Given the description of an element on the screen output the (x, y) to click on. 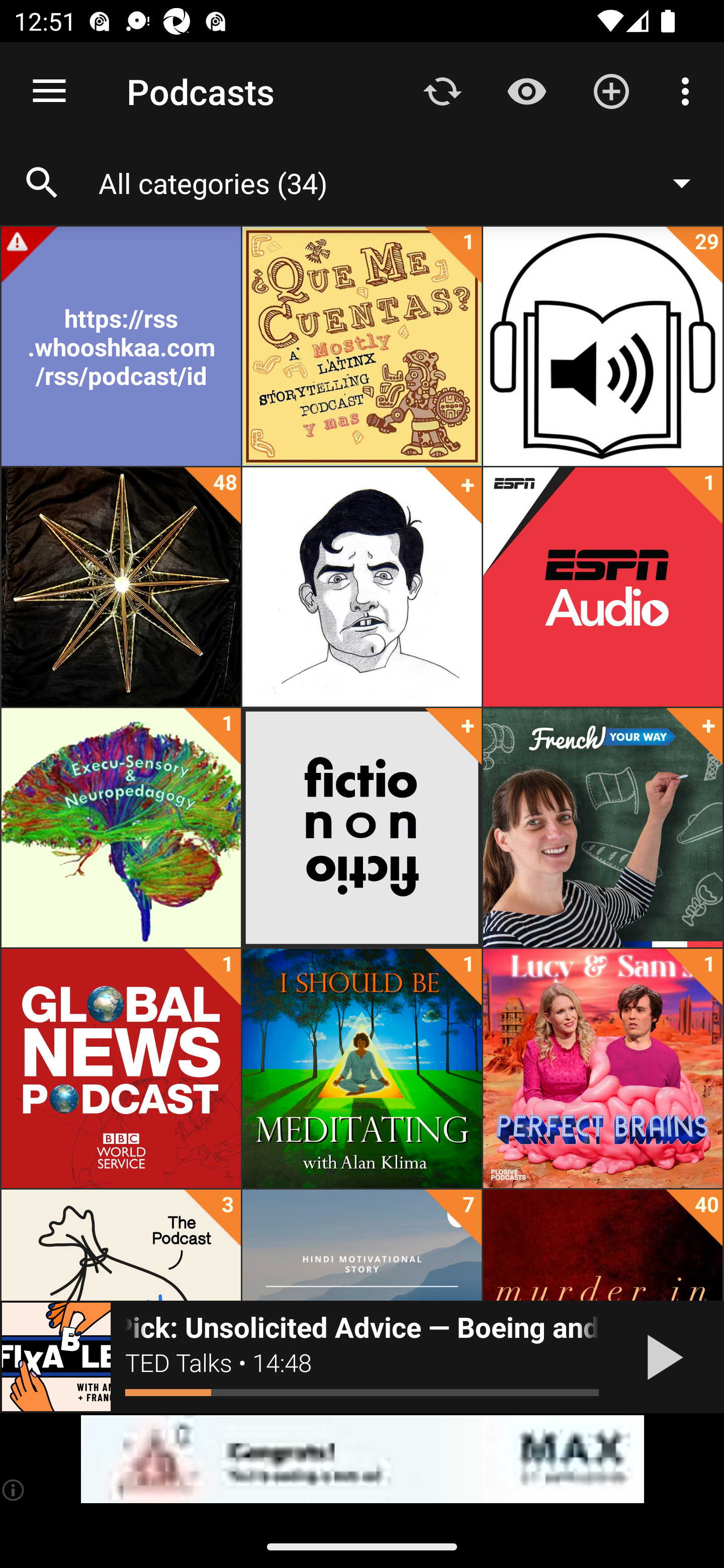
Open navigation sidebar (49, 91)
Update (442, 90)
Show / Hide played content (526, 90)
Add new Podcast (611, 90)
More options (688, 90)
Search (42, 183)
All categories (34) (404, 182)
https://rss.whooshkaa.com/rss/podcast/id/5884 (121, 346)
¿Qué Me Cuentas?: Latinx Storytelling 1 (361, 346)
Audiobooks 29 (602, 346)
Audiobooks 48 (121, 587)
Cooking Issues with Dave Arnold + (361, 587)
ESPN Audio 1 (602, 587)
fiction/non/fiction + (361, 827)
Global News Podcast 1 (121, 1068)
Lucy & Sam's Perfect Brains 1 (602, 1068)
Play / Pause (660, 1356)
app-monetization (362, 1459)
(i) (14, 1489)
